Given the description of an element on the screen output the (x, y) to click on. 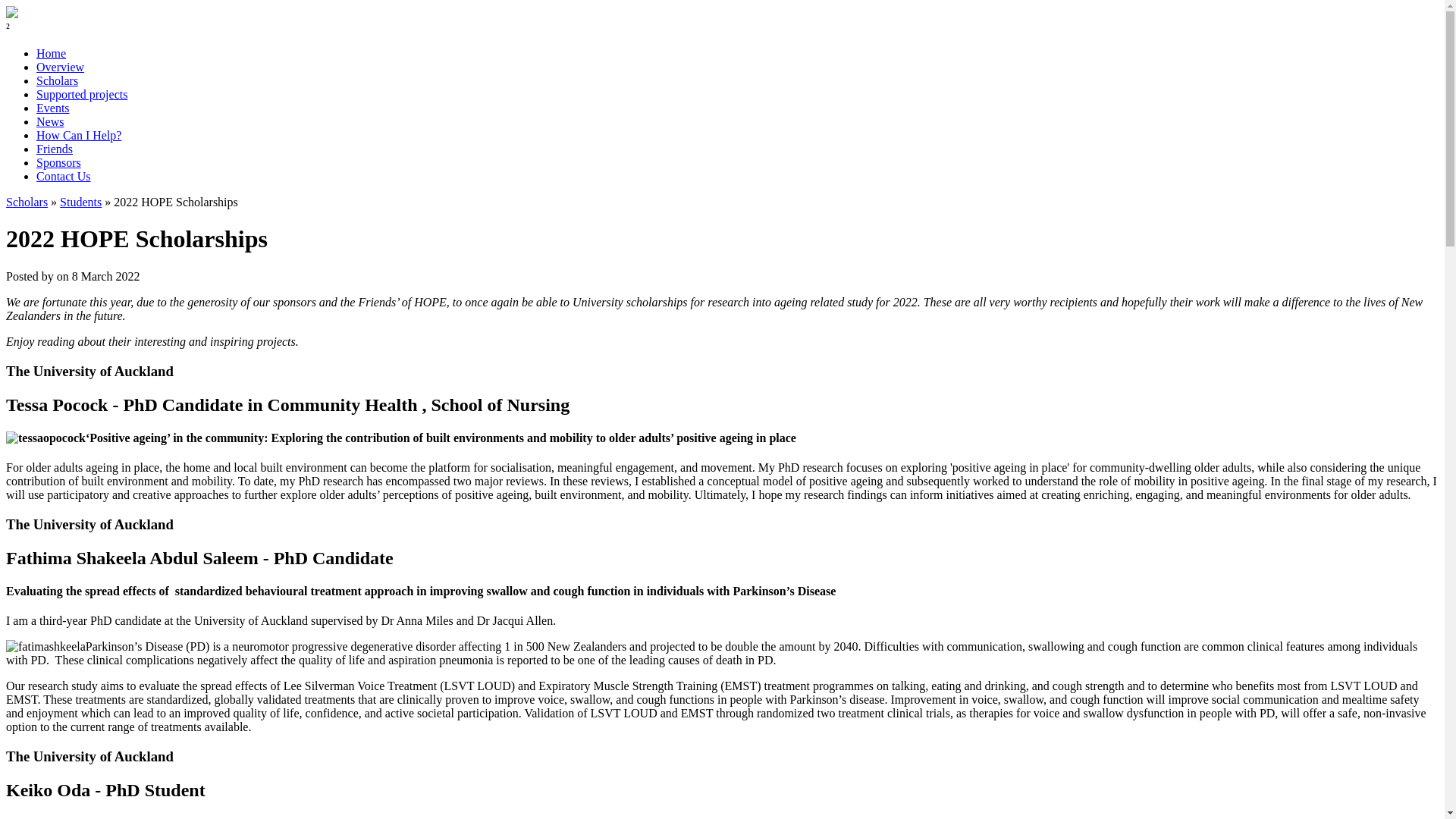
Events (52, 107)
Students (80, 201)
Contact Us (63, 175)
Sponsors (58, 162)
Scholars (57, 80)
News (50, 121)
Scholars (57, 80)
Overview (60, 66)
Friends (54, 148)
How Can I Help? (78, 134)
Supported projects (82, 93)
How Can I Help? (78, 134)
Scholars (26, 201)
Home (50, 52)
Events (52, 107)
